Given the description of an element on the screen output the (x, y) to click on. 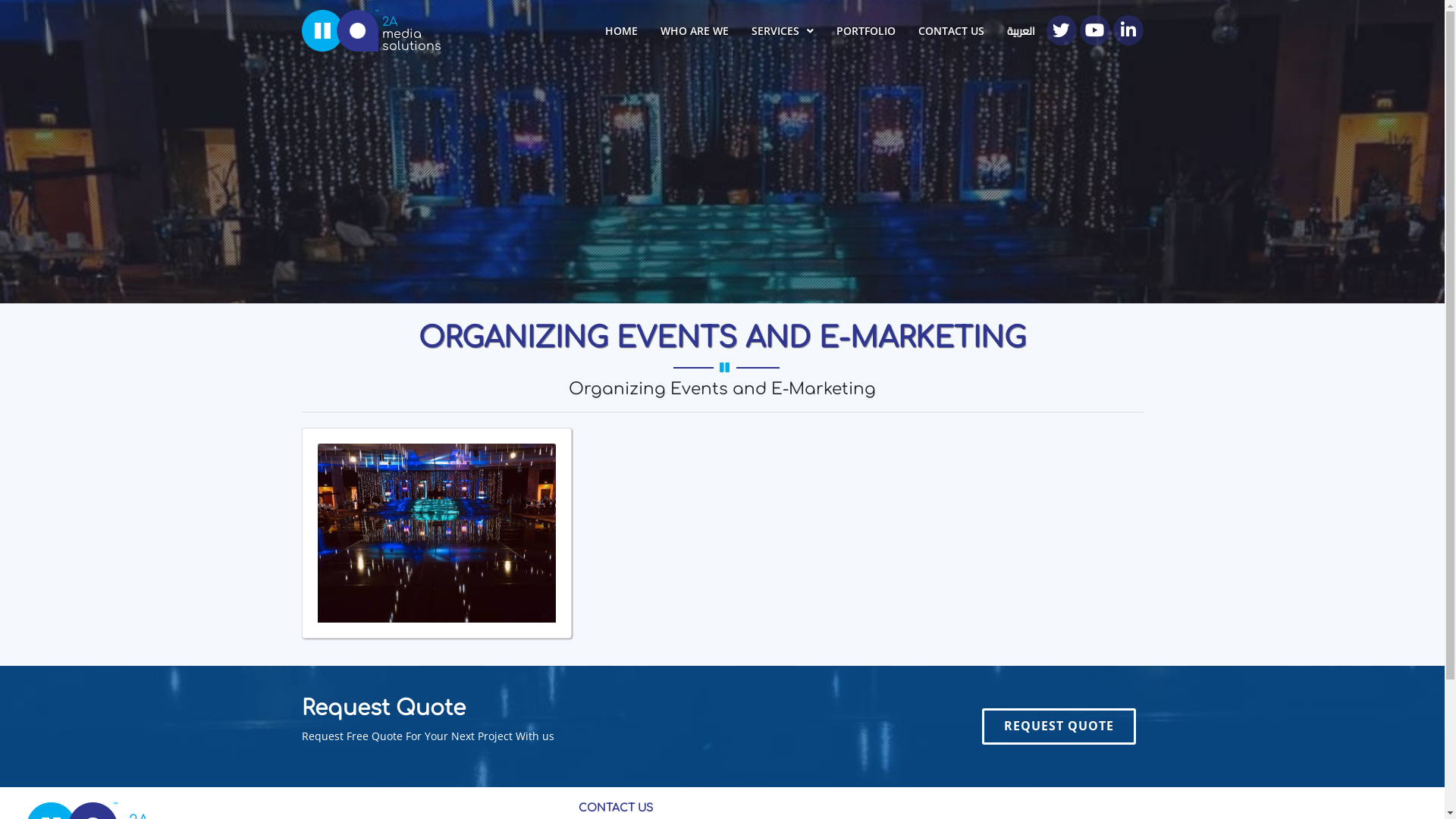
REQUEST QUOTE Element type: text (1058, 726)
CONTACT US Element type: text (950, 31)
2A
media
solutions Element type: text (340, 28)
SERVICES Element type: text (782, 31)
HOME Element type: text (620, 31)
PORTFOLIO Element type: text (865, 31)
WHO ARE WE Element type: text (694, 31)
